Given the description of an element on the screen output the (x, y) to click on. 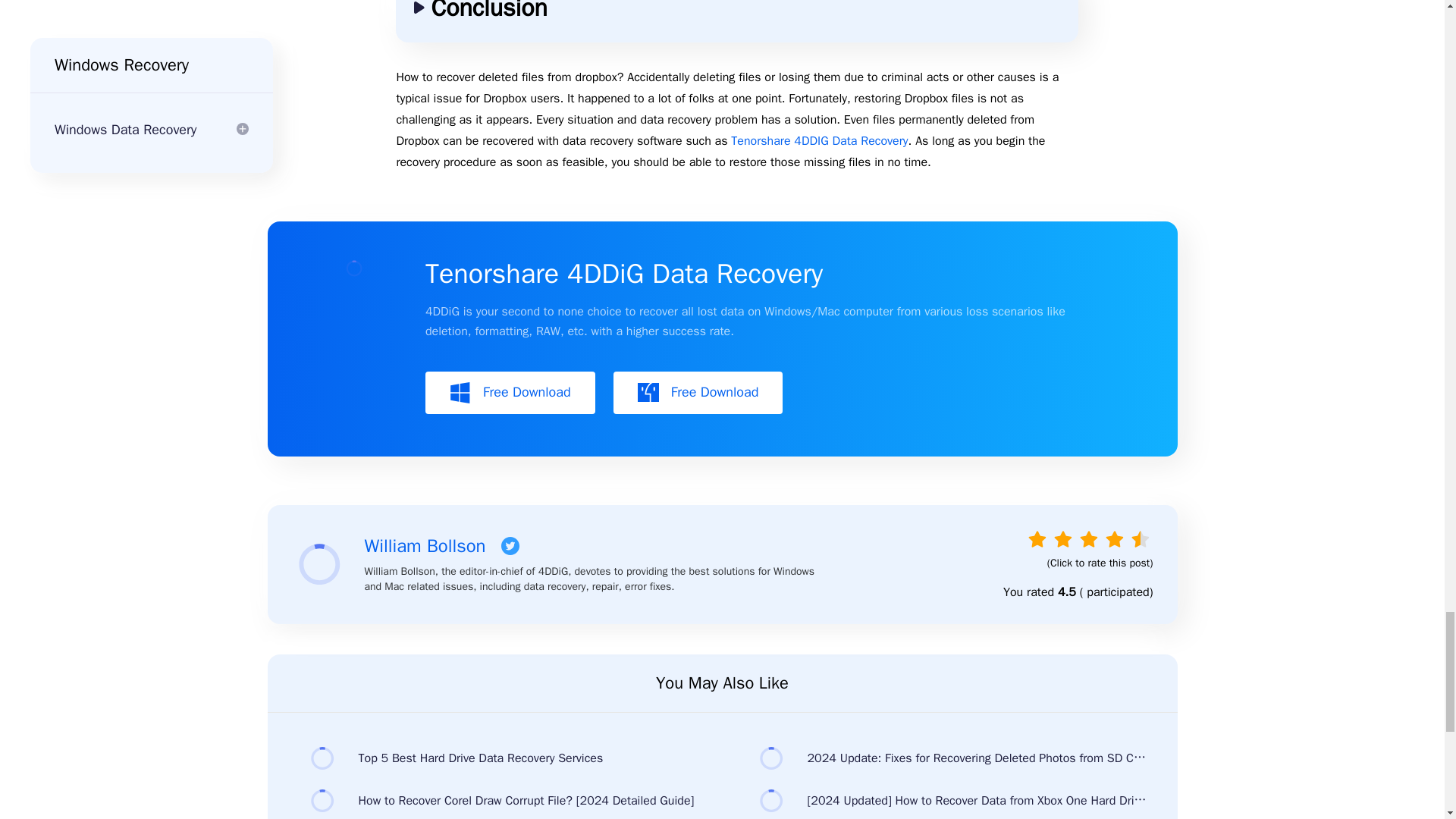
Top 5 Best Hard Drive Data Recovery Services (497, 757)
